Given the description of an element on the screen output the (x, y) to click on. 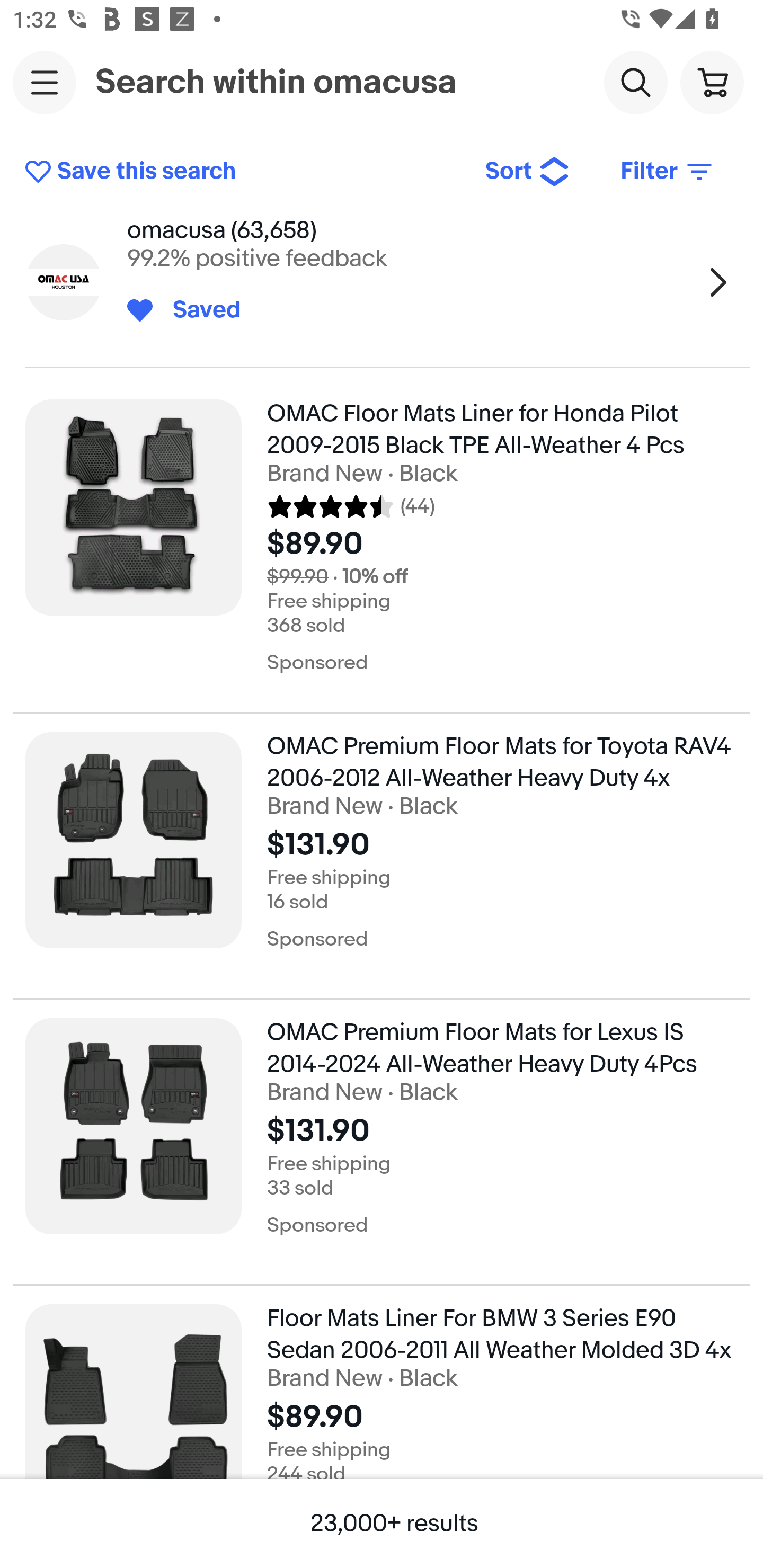
Main navigation, open (44, 82)
Search (635, 81)
Cart button shopping cart (711, 81)
Save this search (241, 171)
Sort (527, 171)
Filter (667, 171)
omacusa (63,658) 99.2% positive feedback Saved (381, 282)
Saved (197, 310)
